Given the description of an element on the screen output the (x, y) to click on. 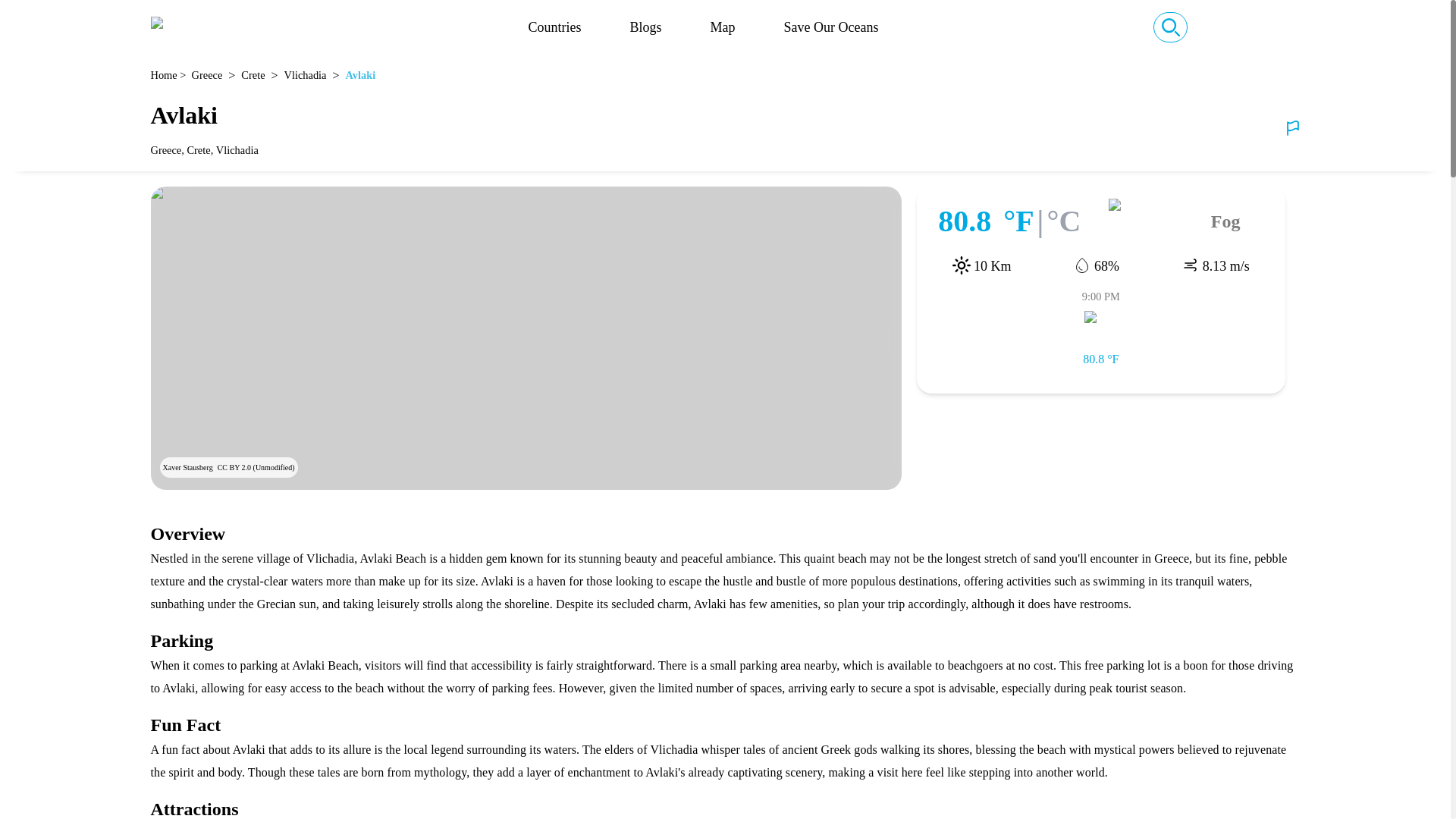
Crete (252, 75)
Crete,  (200, 150)
Countries (553, 27)
Save Our Oceans (831, 27)
Vlichadia  (238, 150)
Greece (207, 75)
Save Our Oceans (831, 27)
Greece,  (167, 150)
Vlichadia (304, 75)
Home (162, 75)
Countries (553, 27)
